Given the description of an element on the screen output the (x, y) to click on. 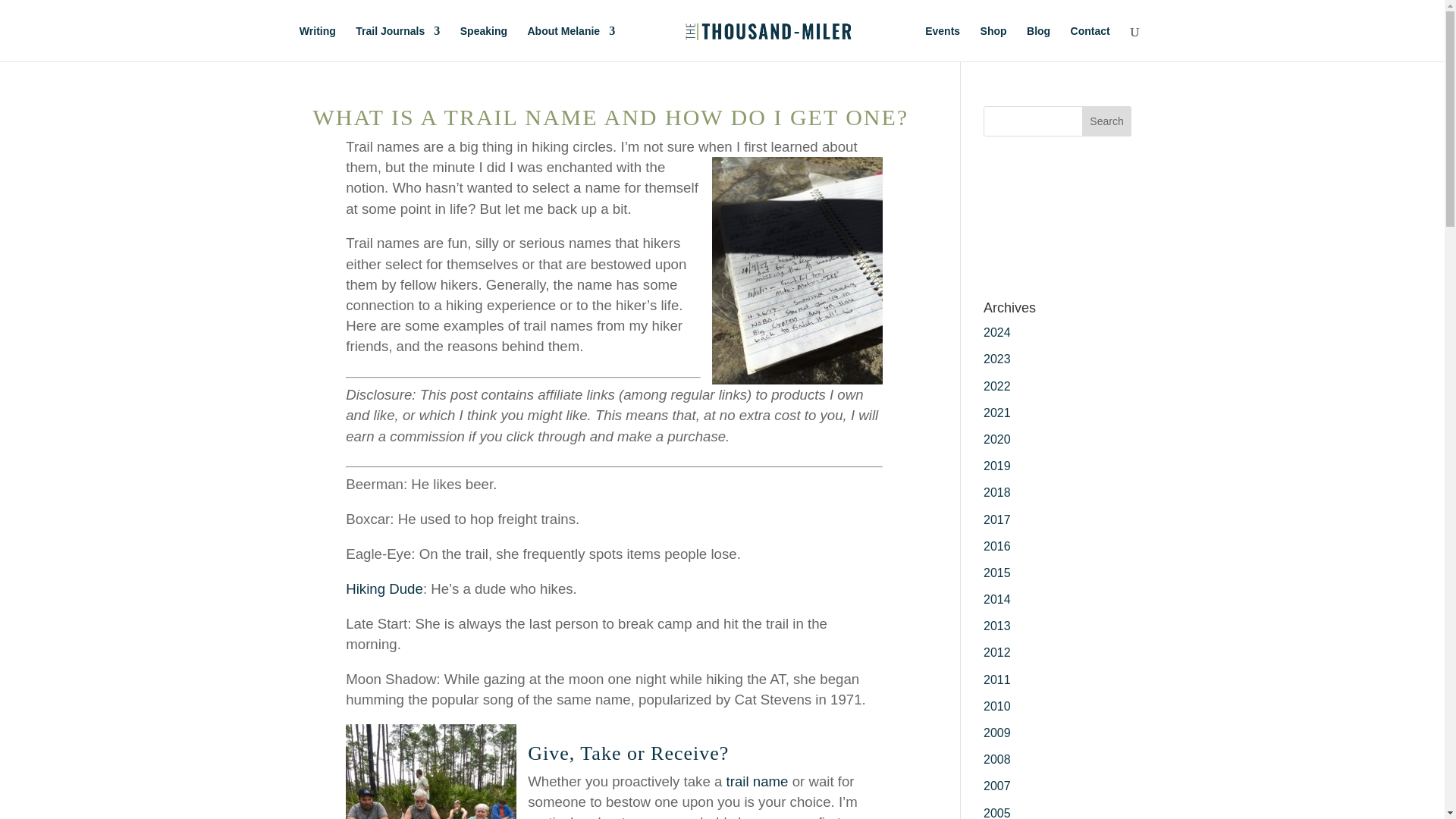
Speaking (483, 43)
About Melanie (570, 43)
Events (941, 43)
Contact (1089, 43)
Writing (317, 43)
Trail Journals (397, 43)
Search (1106, 121)
